Given the description of an element on the screen output the (x, y) to click on. 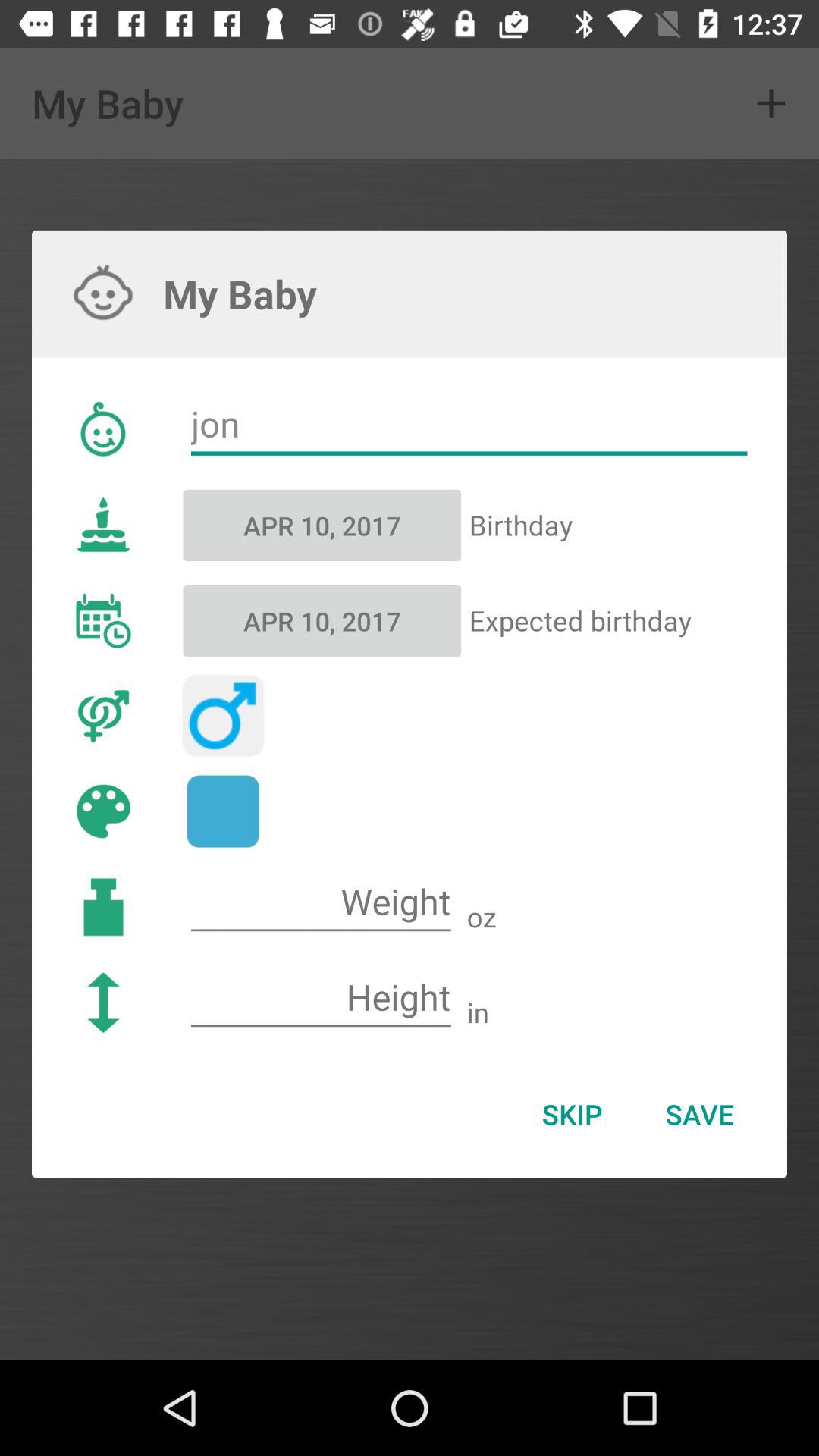
turn off the icon above the birthday (469, 425)
